Given the description of an element on the screen output the (x, y) to click on. 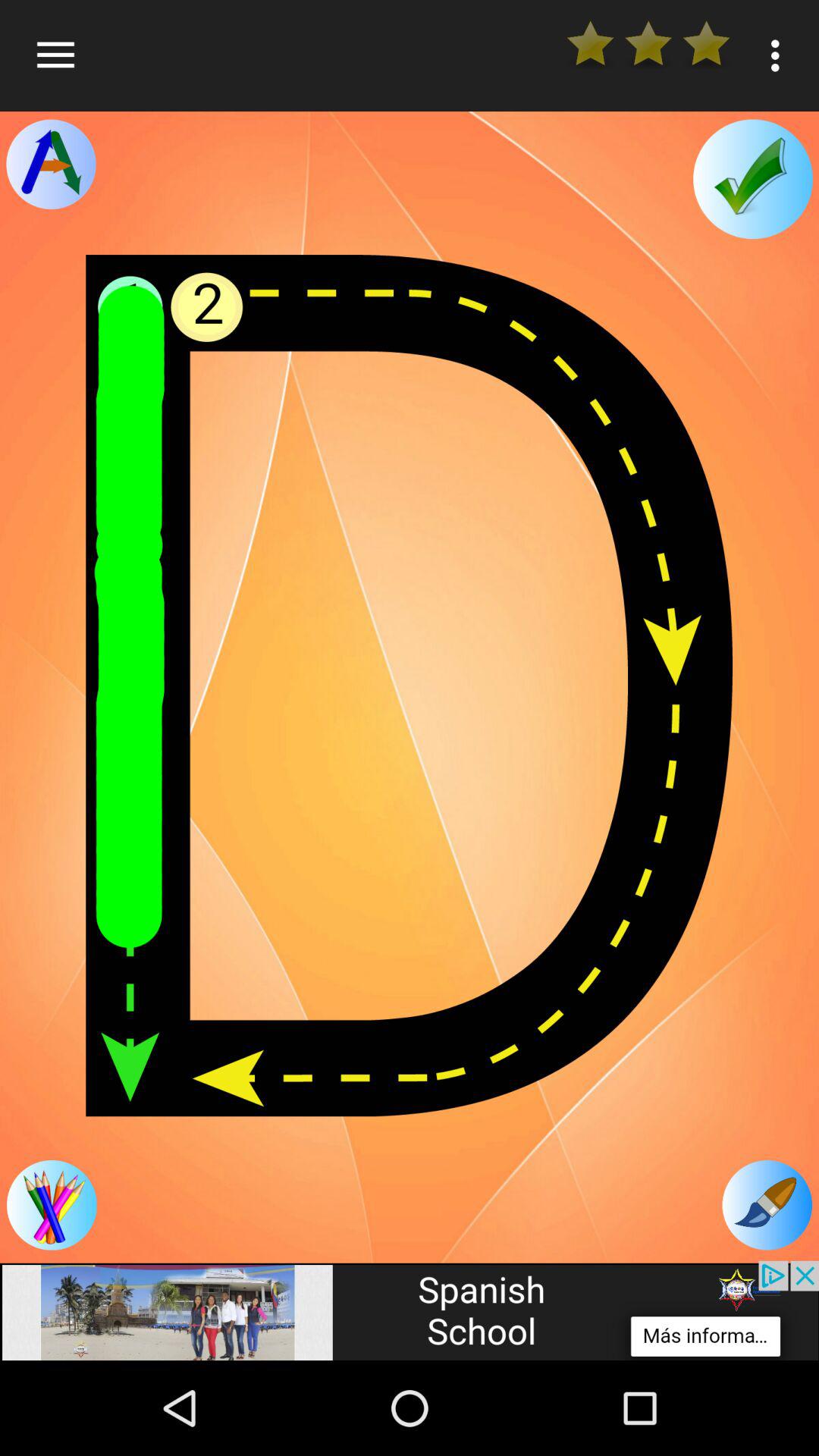
check work (752, 178)
